Given the description of an element on the screen output the (x, y) to click on. 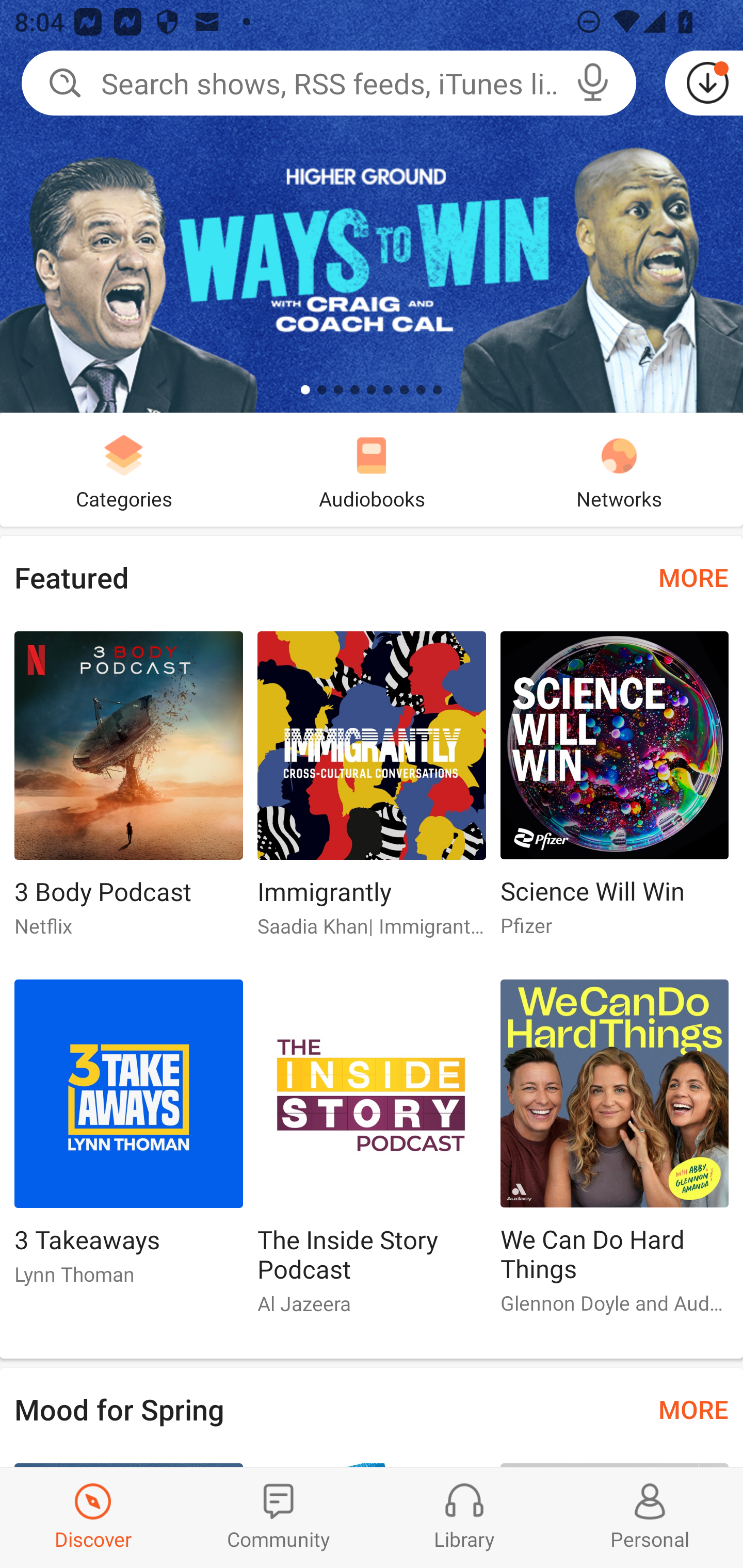
Ways To Win (371, 206)
Categories (123, 469)
Audiobooks (371, 469)
Networks (619, 469)
MORE (693, 576)
3 Body Podcast 3 Body Podcast Netflix (128, 792)
Science Will Win Science Will Win Pfizer (614, 792)
3 Takeaways 3 Takeaways Lynn Thoman (128, 1140)
MORE (693, 1409)
Discover (92, 1517)
Community (278, 1517)
Library (464, 1517)
Profiles and Settings Personal (650, 1517)
